Given the description of an element on the screen output the (x, y) to click on. 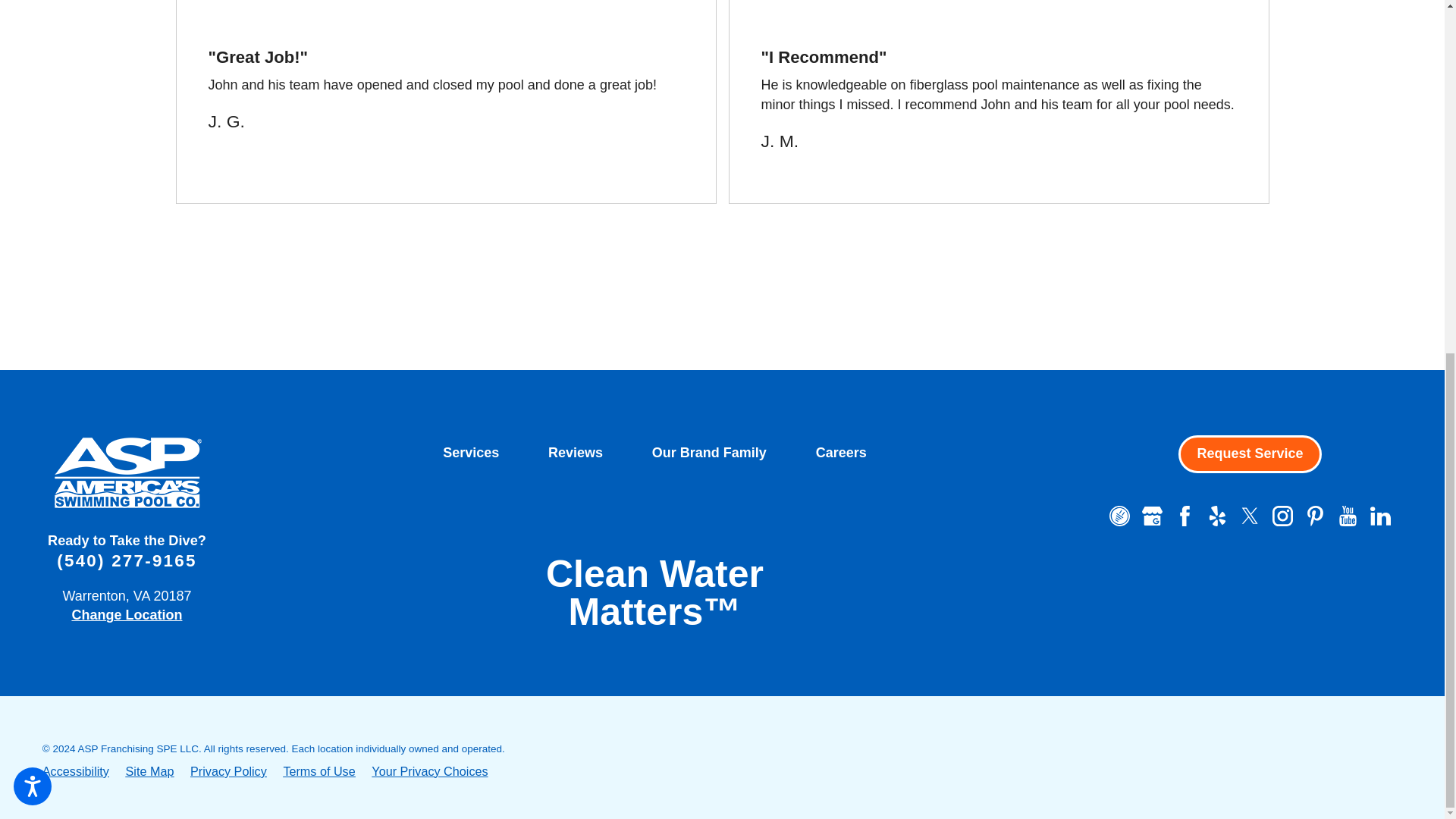
Facebook (1184, 516)
Open the accessibility options menu (31, 170)
CareerPlug (1119, 516)
ASP - America's Swimming Pool Company of Warrenton (126, 472)
